Given the description of an element on the screen output the (x, y) to click on. 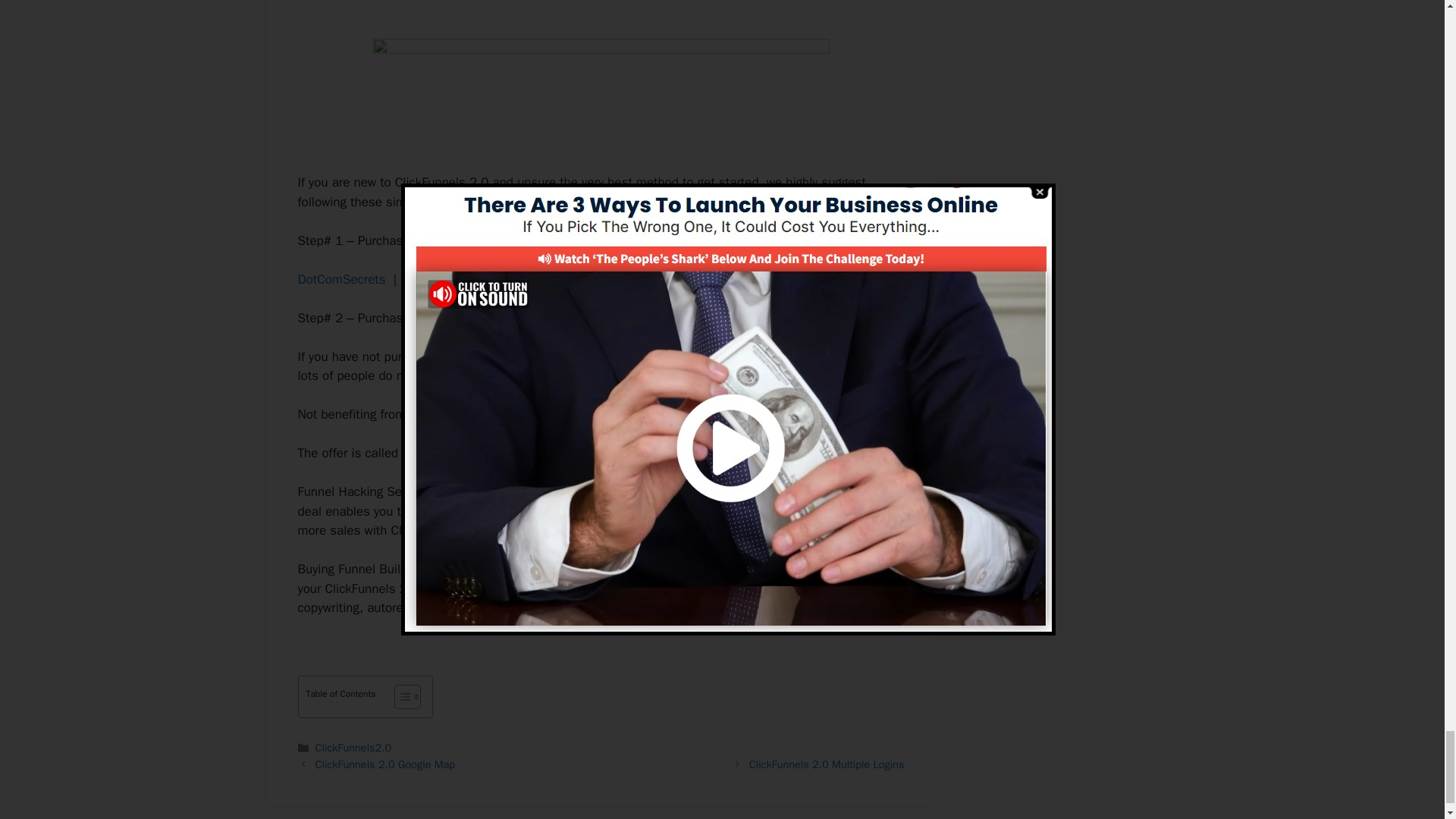
DotComSecrets (341, 279)
Traffic Secrets (545, 279)
ClickFunnels 2.0 (493, 356)
Funnel Builder Secrets (464, 453)
Expert Secrets (445, 279)
